Given the description of an element on the screen output the (x, y) to click on. 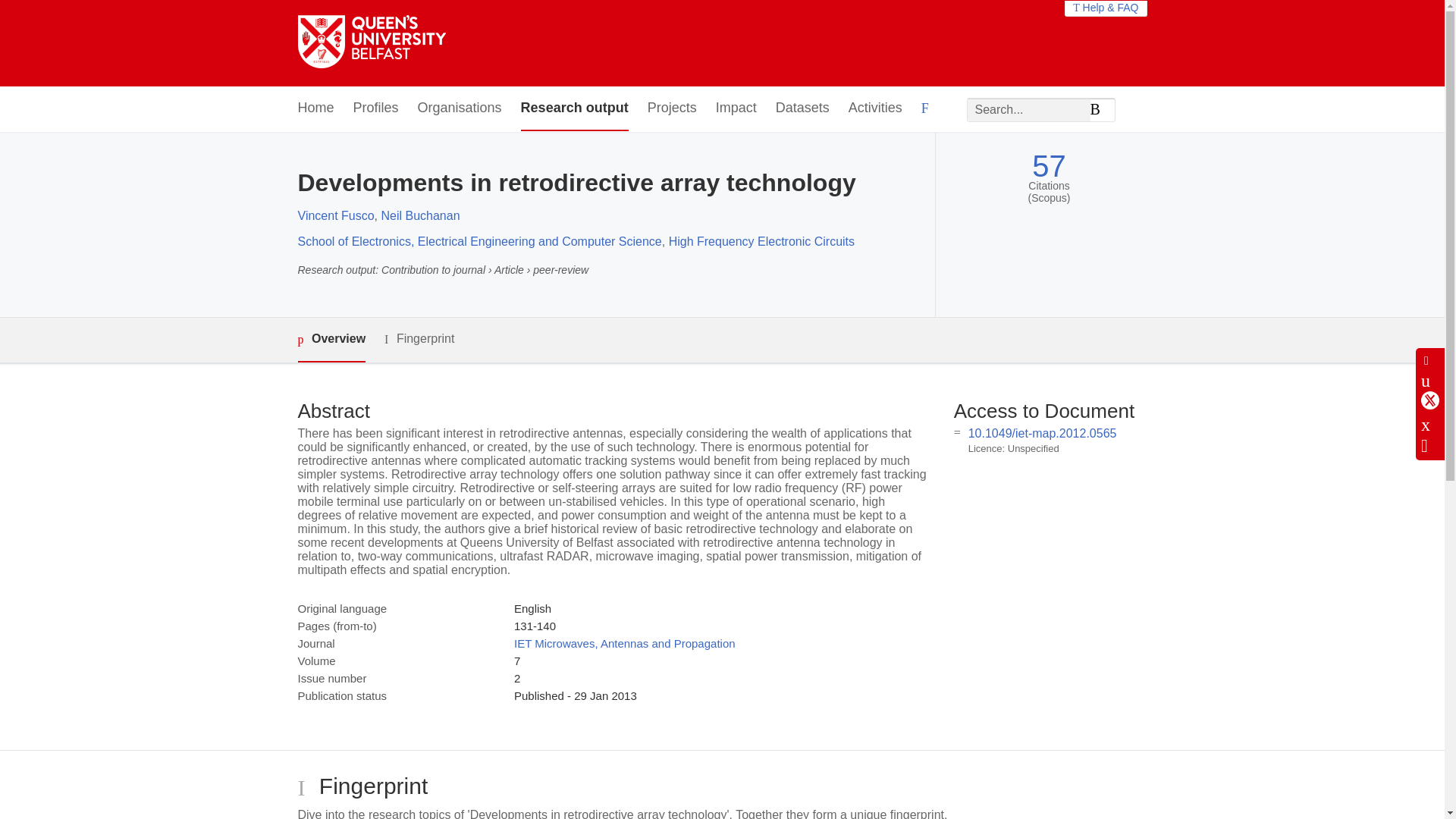
Datasets (802, 108)
IET Microwaves, Antennas and Propagation (624, 643)
Queen's University Belfast Home (371, 43)
Profiles (375, 108)
Overview (331, 339)
Fingerprint (419, 339)
Projects (672, 108)
High Frequency Electronic Circuits (761, 241)
Neil Buchanan (420, 215)
Vincent Fusco (335, 215)
Research output (574, 108)
Impact (736, 108)
Activities (875, 108)
Organisations (459, 108)
